Given the description of an element on the screen output the (x, y) to click on. 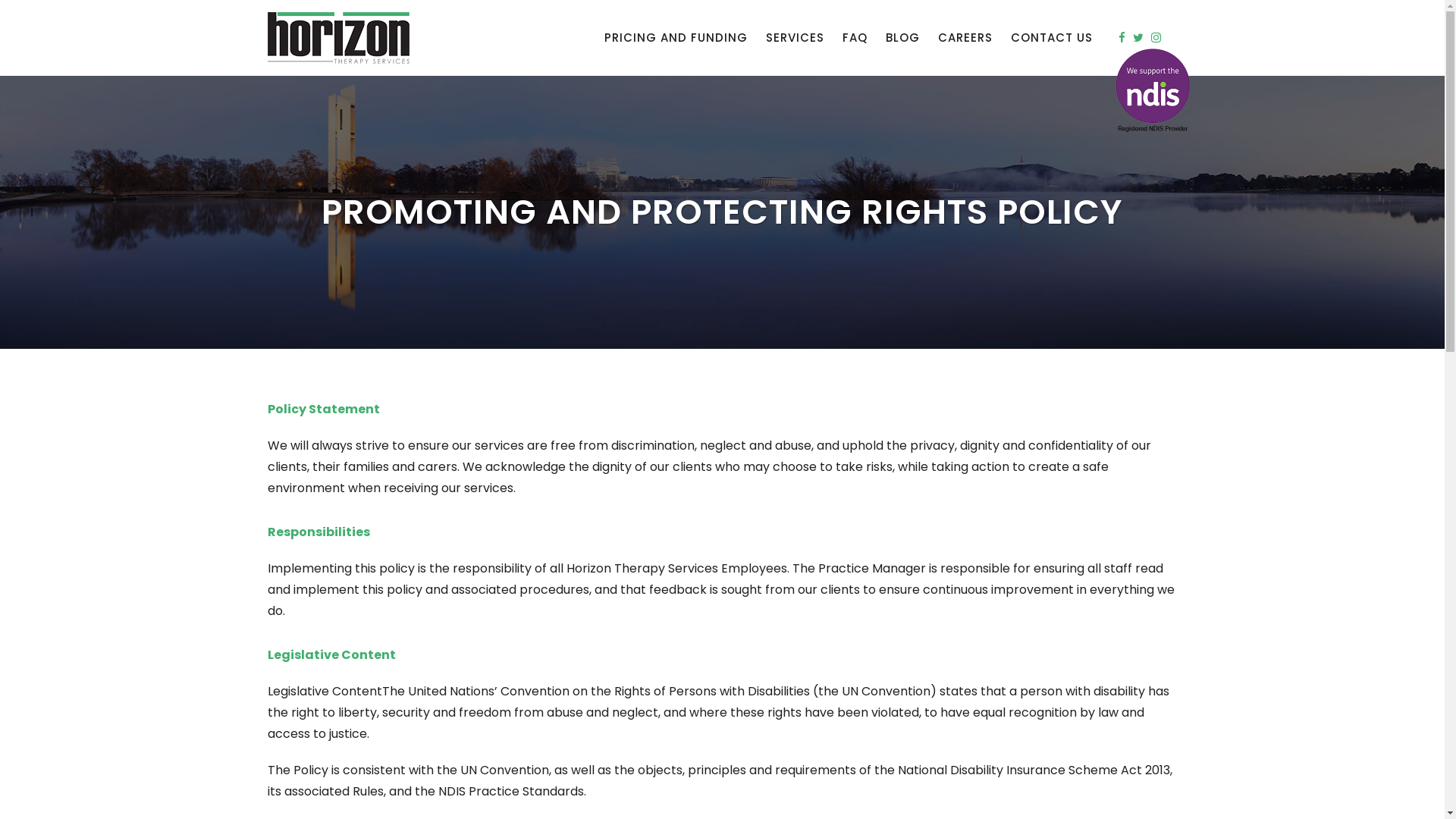
CAREERS Element type: text (964, 37)
FAQ Element type: text (853, 37)
CONTACT US Element type: text (1051, 37)
BLOG Element type: text (902, 37)
SERVICES Element type: text (794, 37)
PRICING AND FUNDING Element type: text (675, 37)
